Given the description of an element on the screen output the (x, y) to click on. 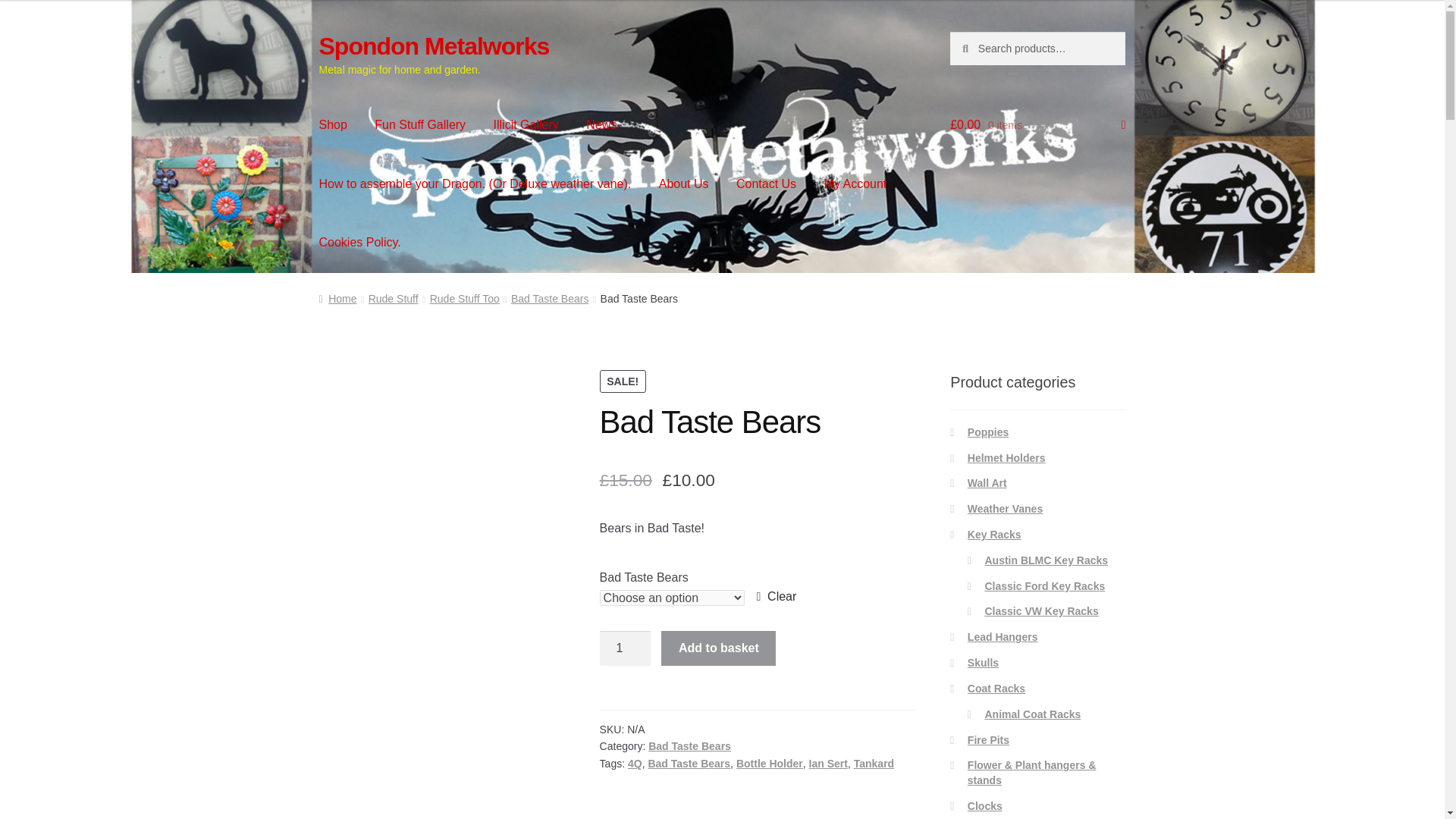
Cookies Policy. (360, 241)
Home (337, 298)
Illicit Gallery (525, 124)
Rude Stuff (393, 298)
News (600, 124)
Fun Stuff Gallery (419, 124)
Qty (624, 647)
My Account (855, 183)
